Given the description of an element on the screen output the (x, y) to click on. 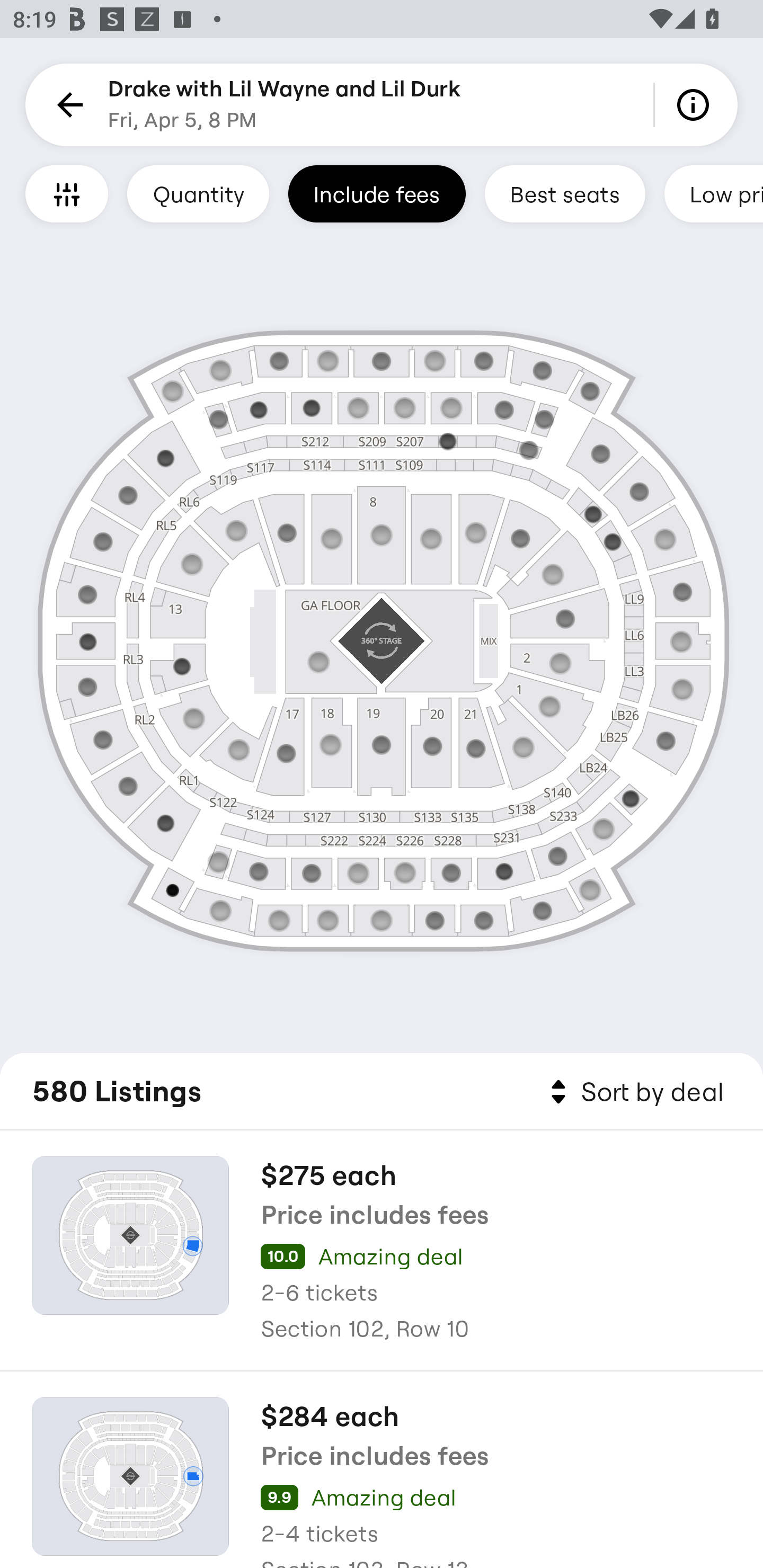
Back (66, 104)
Drake with Lil Wayne and Lil Durk Fri, Apr 5, 8 PM (284, 104)
Info (695, 104)
Filters and Accessible Seating (66, 193)
Quantity (198, 193)
Include fees (376, 193)
Best seats (564, 193)
Sort by deal (633, 1091)
